Given the description of an element on the screen output the (x, y) to click on. 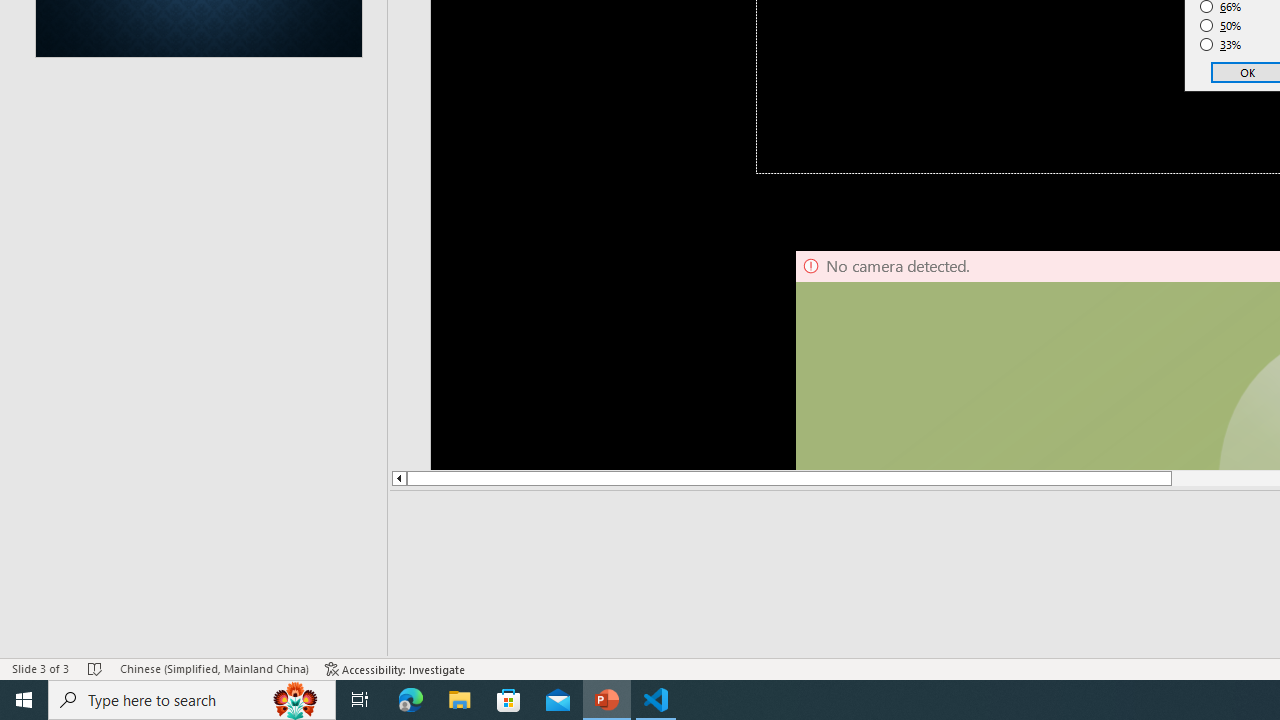
50% (1221, 25)
33% (1221, 44)
